Given the description of an element on the screen output the (x, y) to click on. 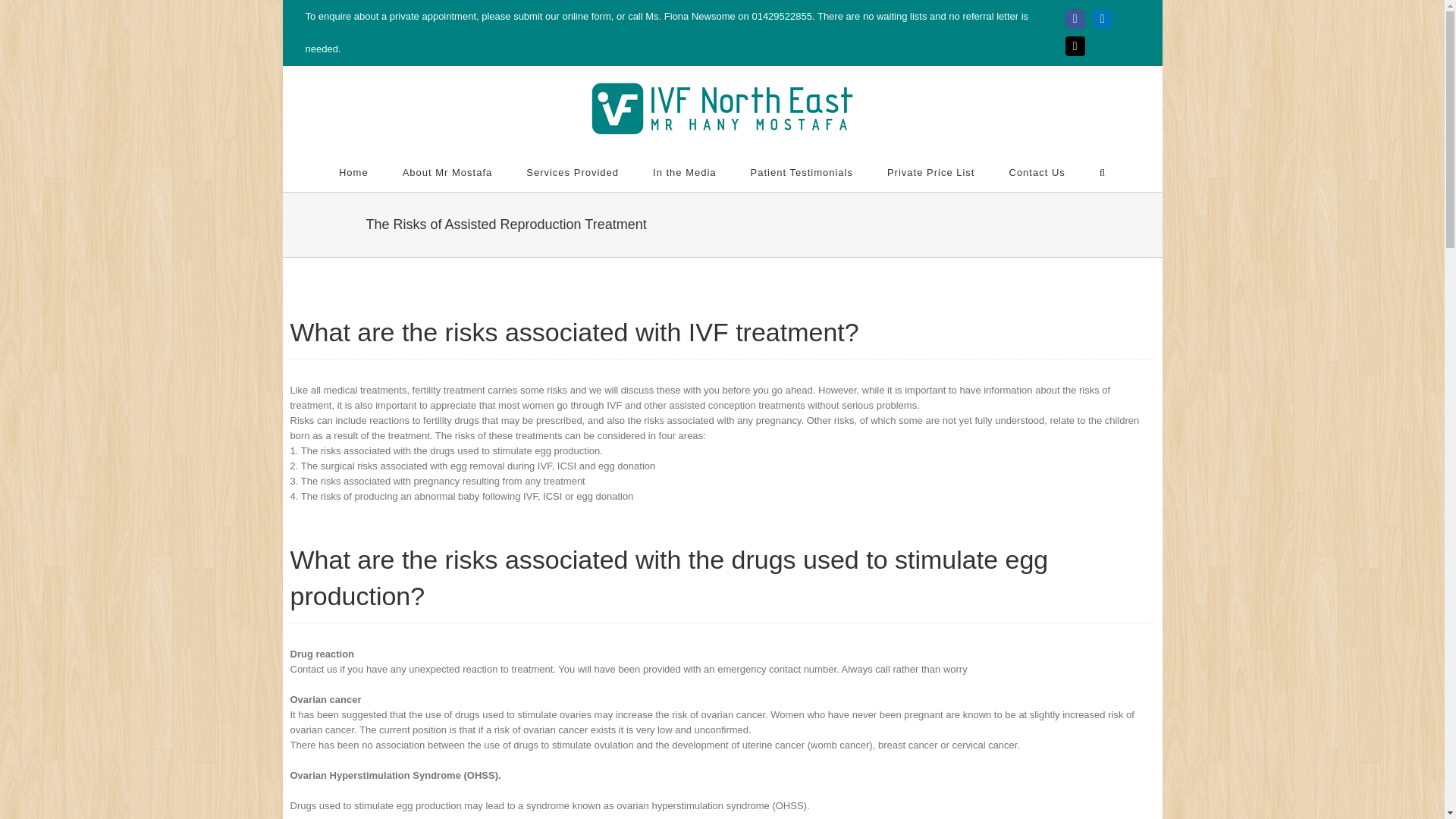
About Mr Mostafa (448, 171)
Linkedin (1102, 18)
Email (1074, 46)
Facebook (1074, 18)
Contact Us (1036, 171)
Private Price List (930, 171)
Patient Testimonials (802, 171)
Linkedin (1102, 18)
Email (1074, 46)
In the Media (684, 171)
